Given the description of an element on the screen output the (x, y) to click on. 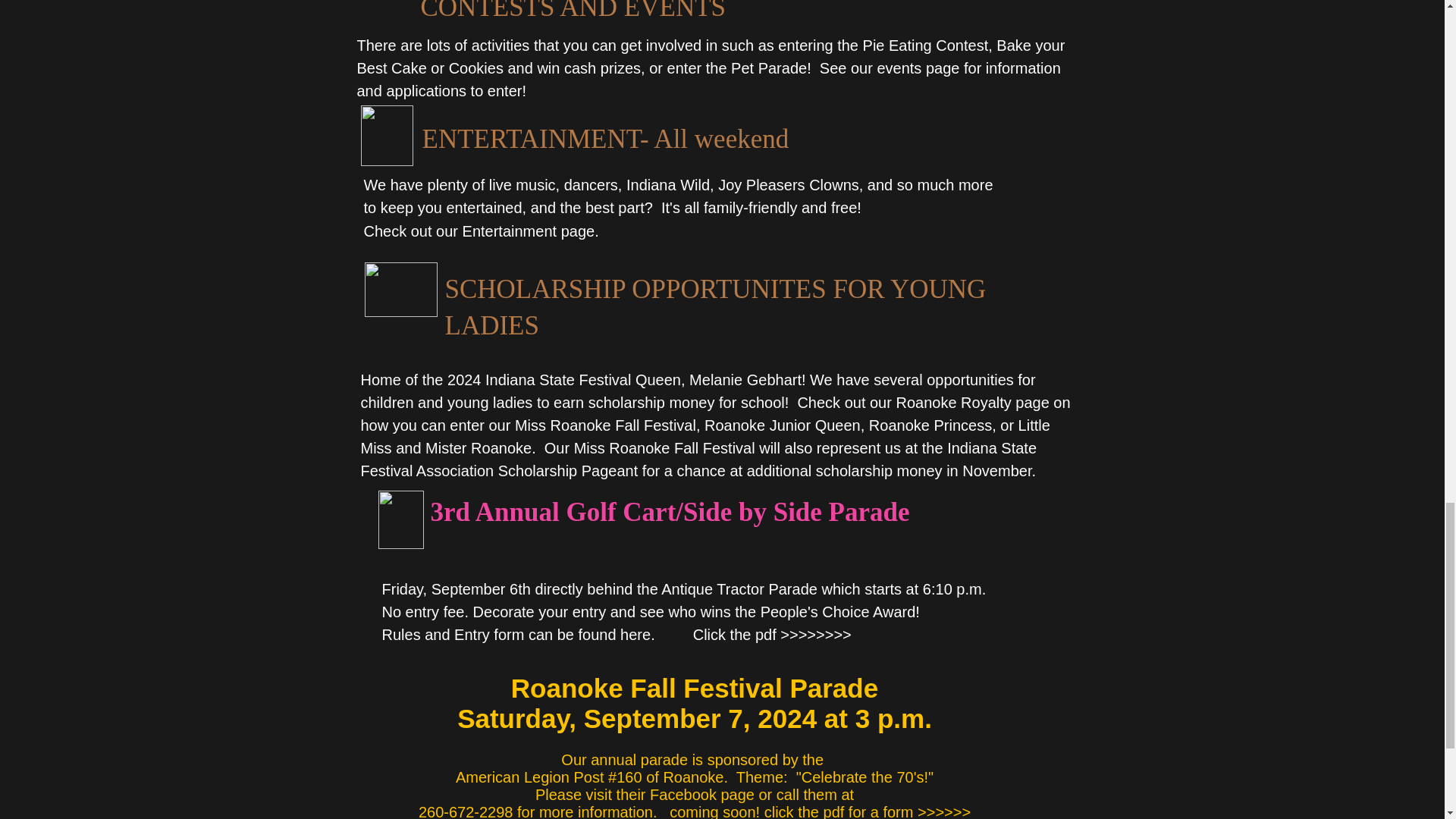
Drum (387, 135)
Golf Cart Parade Entry.pdf (1034, 615)
Tiara  (400, 289)
Trophy (400, 519)
